Given the description of an element on the screen output the (x, y) to click on. 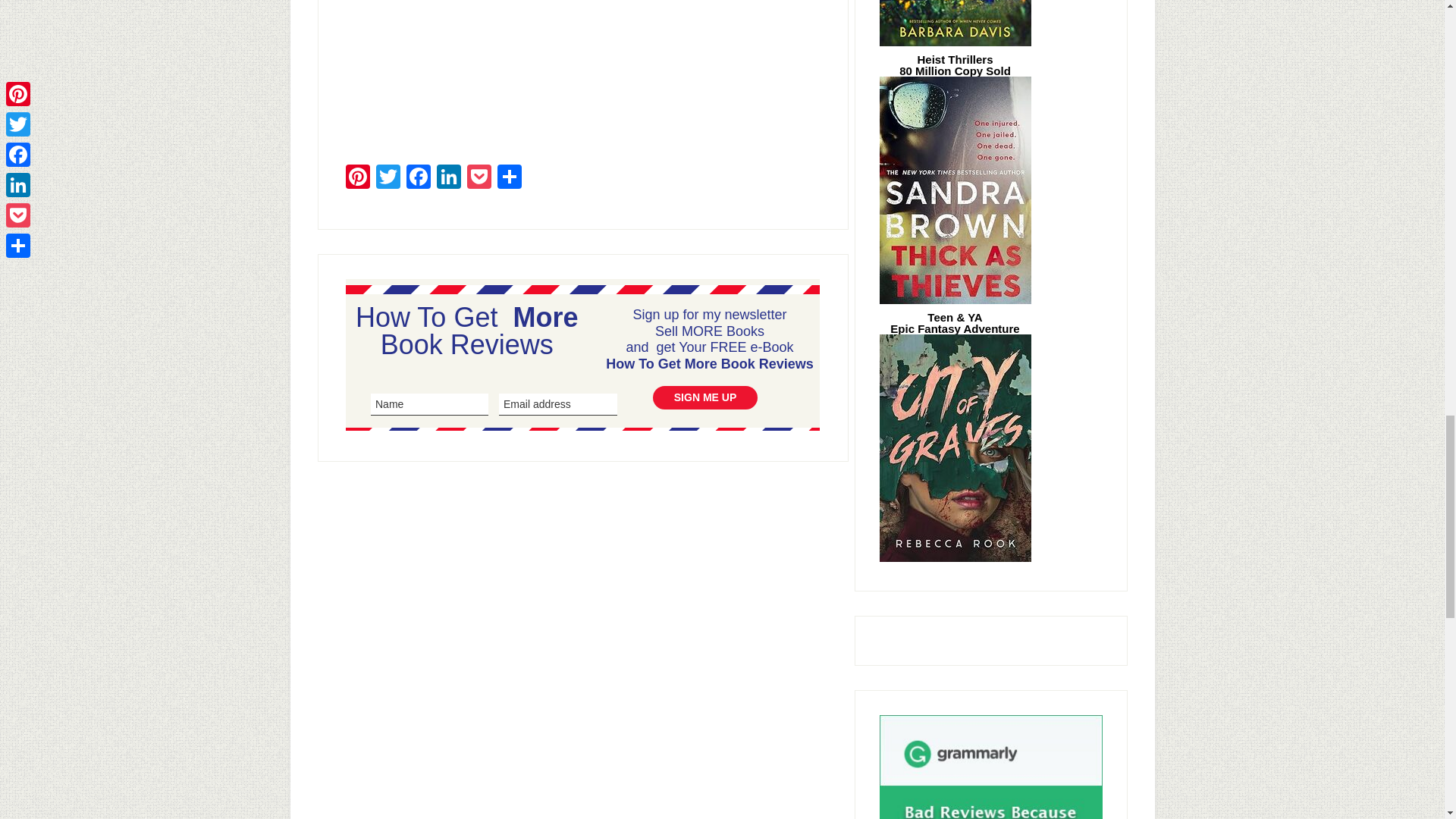
Pocket (479, 177)
Facebook (418, 177)
LinkedIn (448, 177)
Twitter (387, 177)
Share (509, 177)
LinkedIn (448, 177)
Facebook (418, 177)
Pinterest (357, 177)
Pinterest (357, 177)
Pocket (479, 177)
Twitter (387, 177)
